Given the description of an element on the screen output the (x, y) to click on. 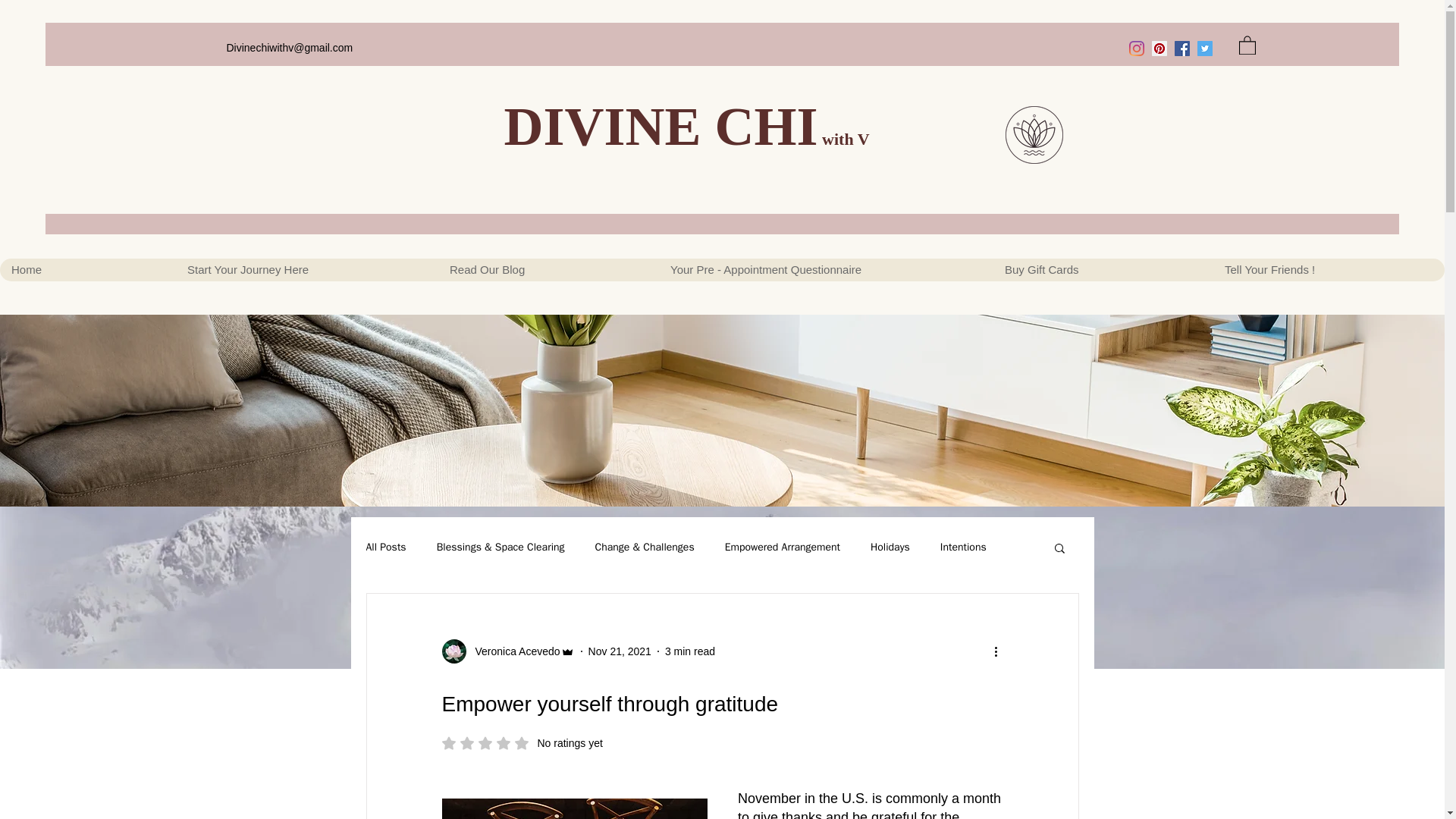
Home (87, 269)
Holidays (890, 547)
Nov 21, 2021 (619, 651)
Your Pre - Appointment Questionnaire (825, 269)
Veronica Acevedo (512, 651)
Start Your Journey Here (306, 269)
Empowered Arrangement (782, 547)
Intentions (963, 547)
All Posts (385, 547)
Veronica Acevedo (507, 651)
3 min read (689, 651)
Buy Gift Cards (1102, 269)
Read Our Blog (548, 269)
